Given the description of an element on the screen output the (x, y) to click on. 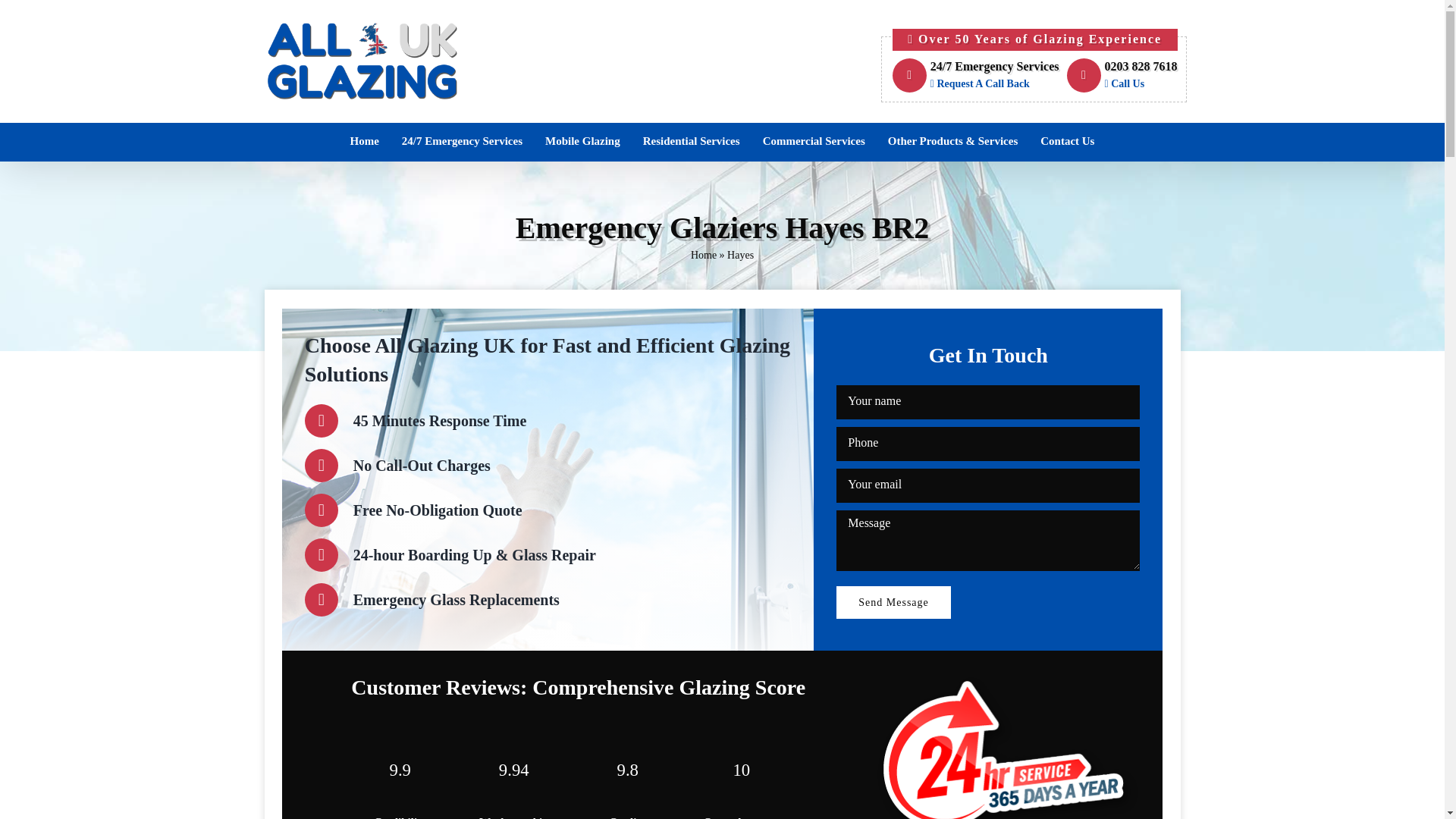
Residential Services (691, 141)
Mobile Glazing (582, 141)
Send Message (892, 602)
Commercial Services (813, 141)
Home (1120, 75)
